Given the description of an element on the screen output the (x, y) to click on. 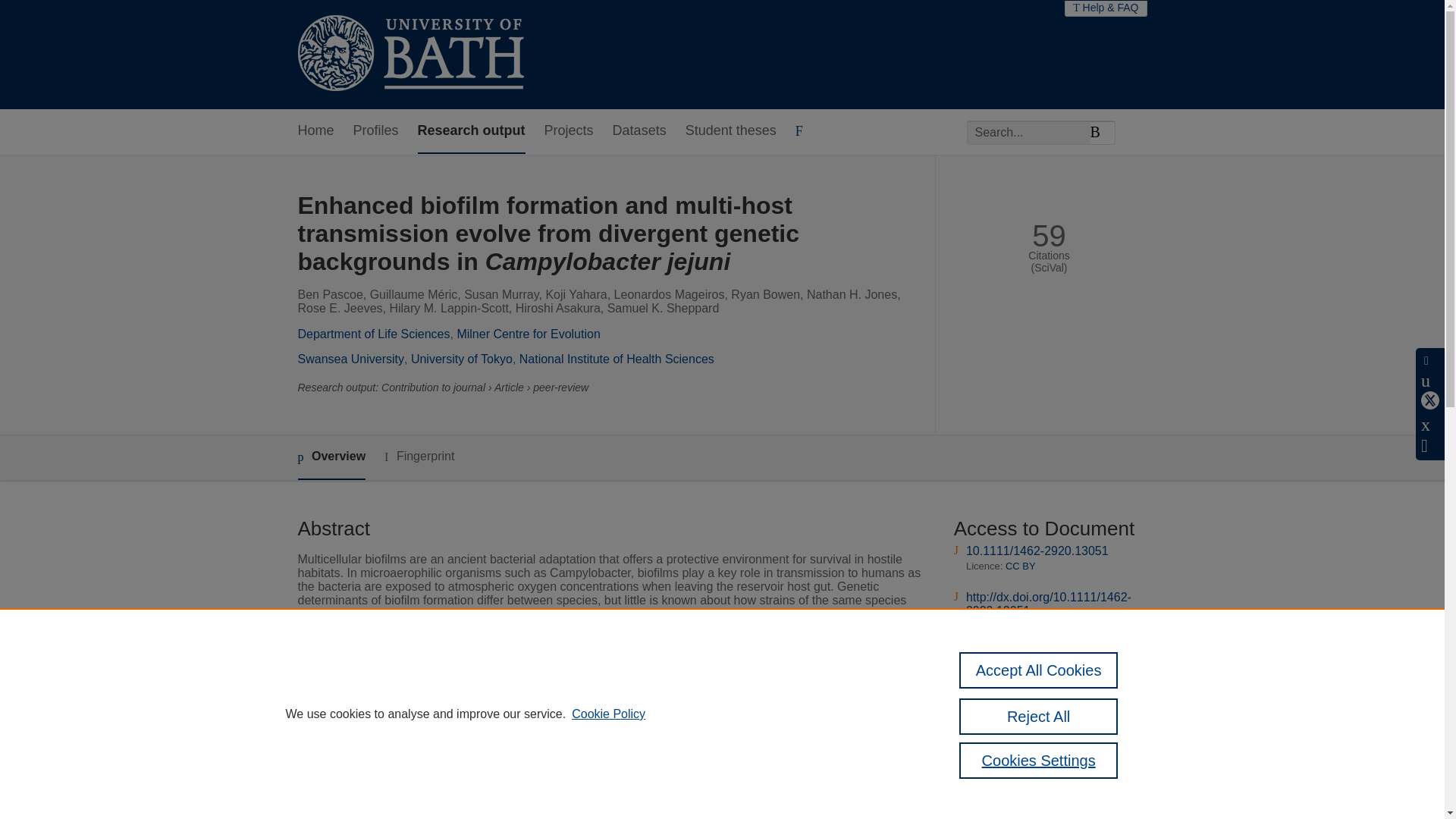
Milner Centre for Evolution (528, 333)
University of Tokyo (461, 358)
Research output (471, 130)
CC BY (1020, 565)
Environmental Microbiology (583, 813)
Swansea University (350, 358)
Department of Life Sciences (373, 333)
Fingerprint (419, 456)
Student theses (730, 130)
Overview (331, 456)
Profiles (375, 130)
Datasets (639, 130)
Projects (569, 130)
the University of Bath's research portal Home (409, 54)
